Given the description of an element on the screen output the (x, y) to click on. 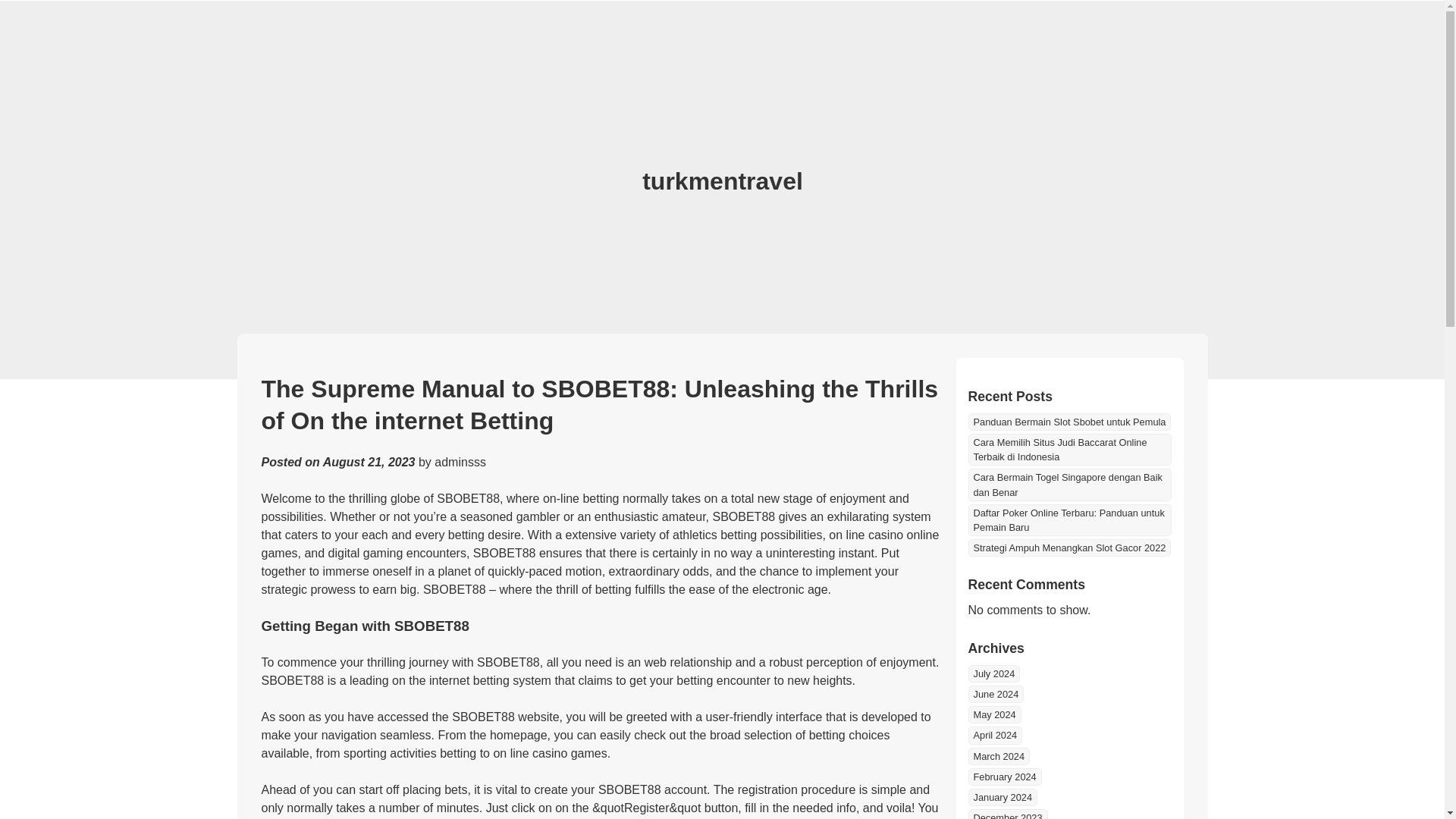
Daftar Poker Online Terbaru: Panduan untuk Pemain Baru (1069, 520)
January 2024 (1002, 796)
Panduan Bermain Slot Sbobet untuk Pemula (1069, 421)
Cara Bermain Togel Singapore dengan Baik dan Benar (1069, 484)
April 2024 (995, 734)
March 2024 (998, 755)
adminsss (459, 461)
Strategi Ampuh Menangkan Slot Gacor 2022 (1069, 547)
July 2024 (994, 673)
February 2024 (1004, 776)
Cara Memilih Situs Judi Baccarat Online Terbaik di Indonesia (1069, 450)
August 21, 2023 (368, 461)
June 2024 (995, 693)
December 2023 (1007, 814)
May 2024 (994, 714)
